Given the description of an element on the screen output the (x, y) to click on. 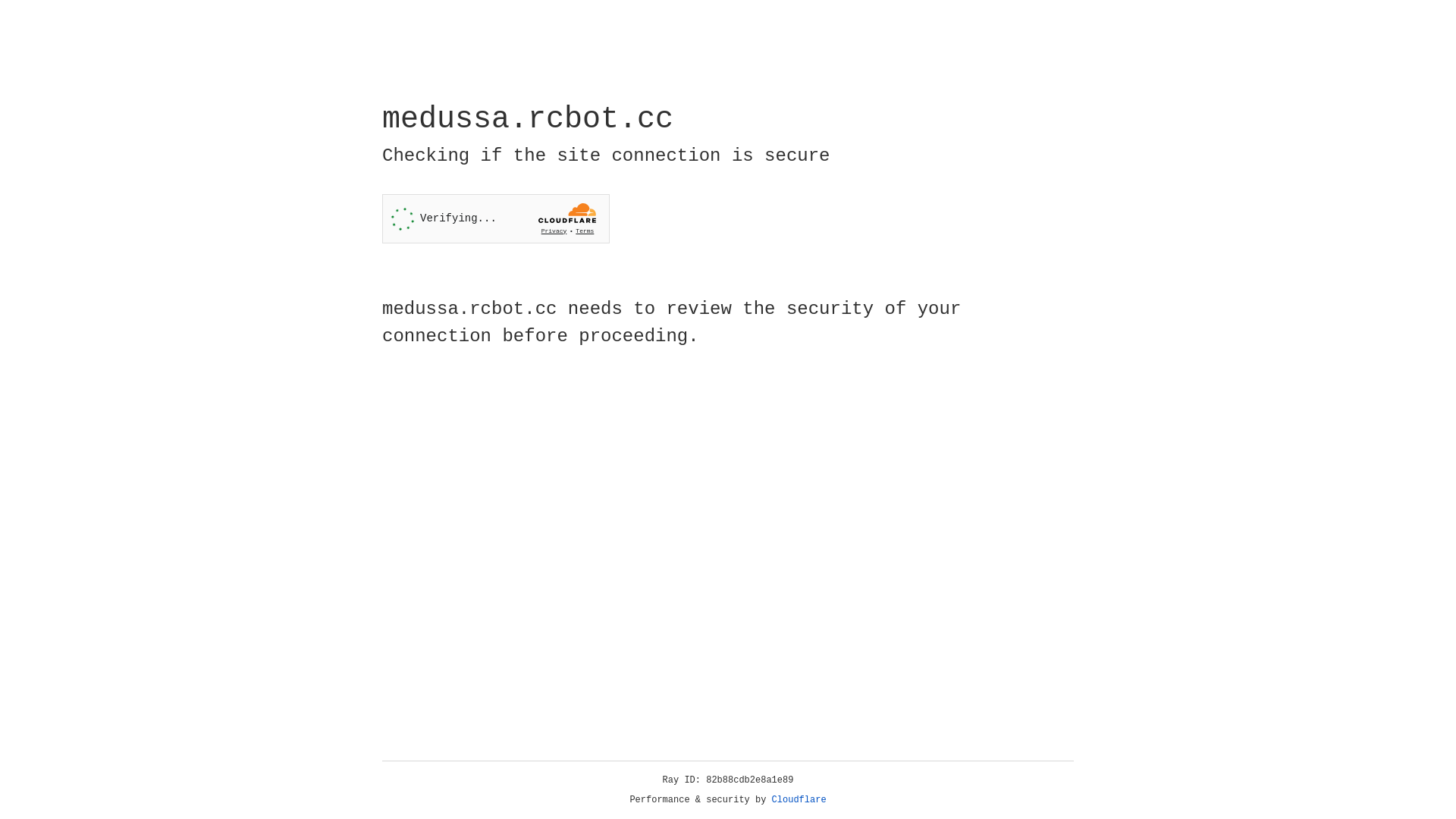
Cloudflare Element type: text (798, 799)
Widget containing a Cloudflare security challenge Element type: hover (495, 218)
